Given the description of an element on the screen output the (x, y) to click on. 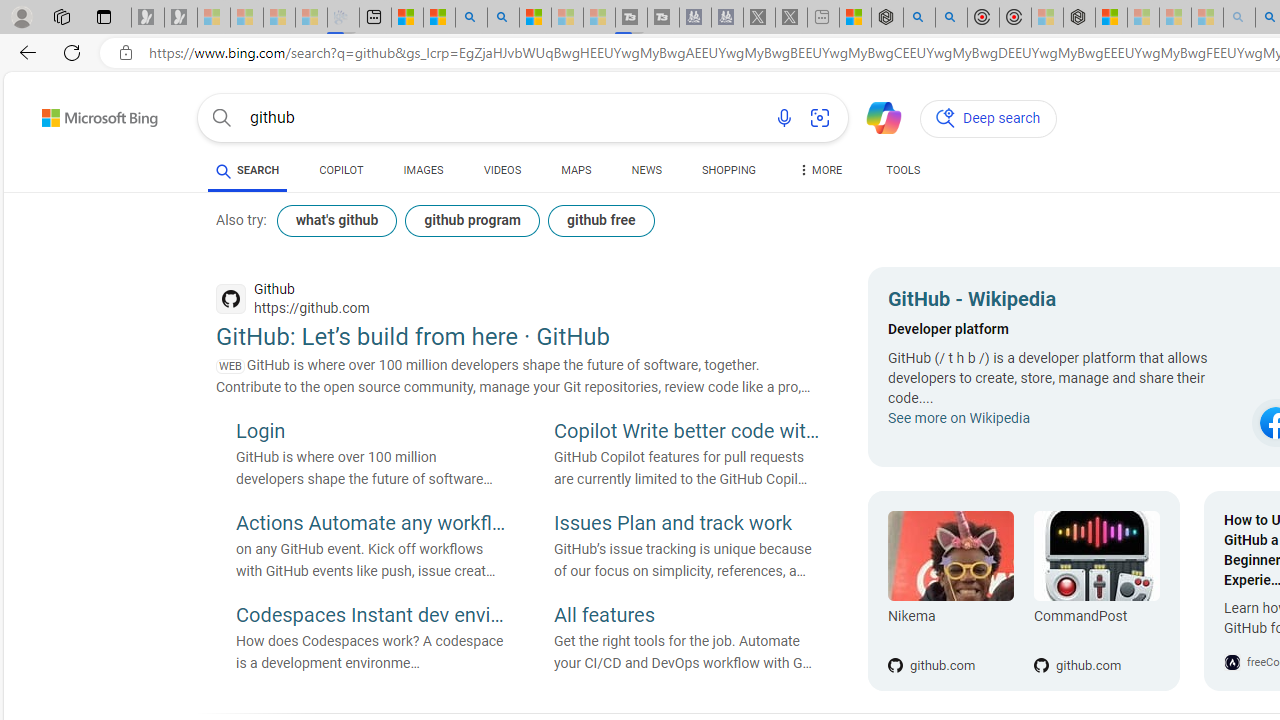
github free (600, 220)
Nikema (950, 619)
Codespaces Instant dev environments (370, 616)
Search button (221, 117)
Dropdown Menu (819, 170)
Login (370, 433)
CommandPost (1096, 619)
NEWS (646, 170)
Global Web Icon (1232, 662)
what's github (336, 220)
CommandPost (1096, 556)
